Given the description of an element on the screen output the (x, y) to click on. 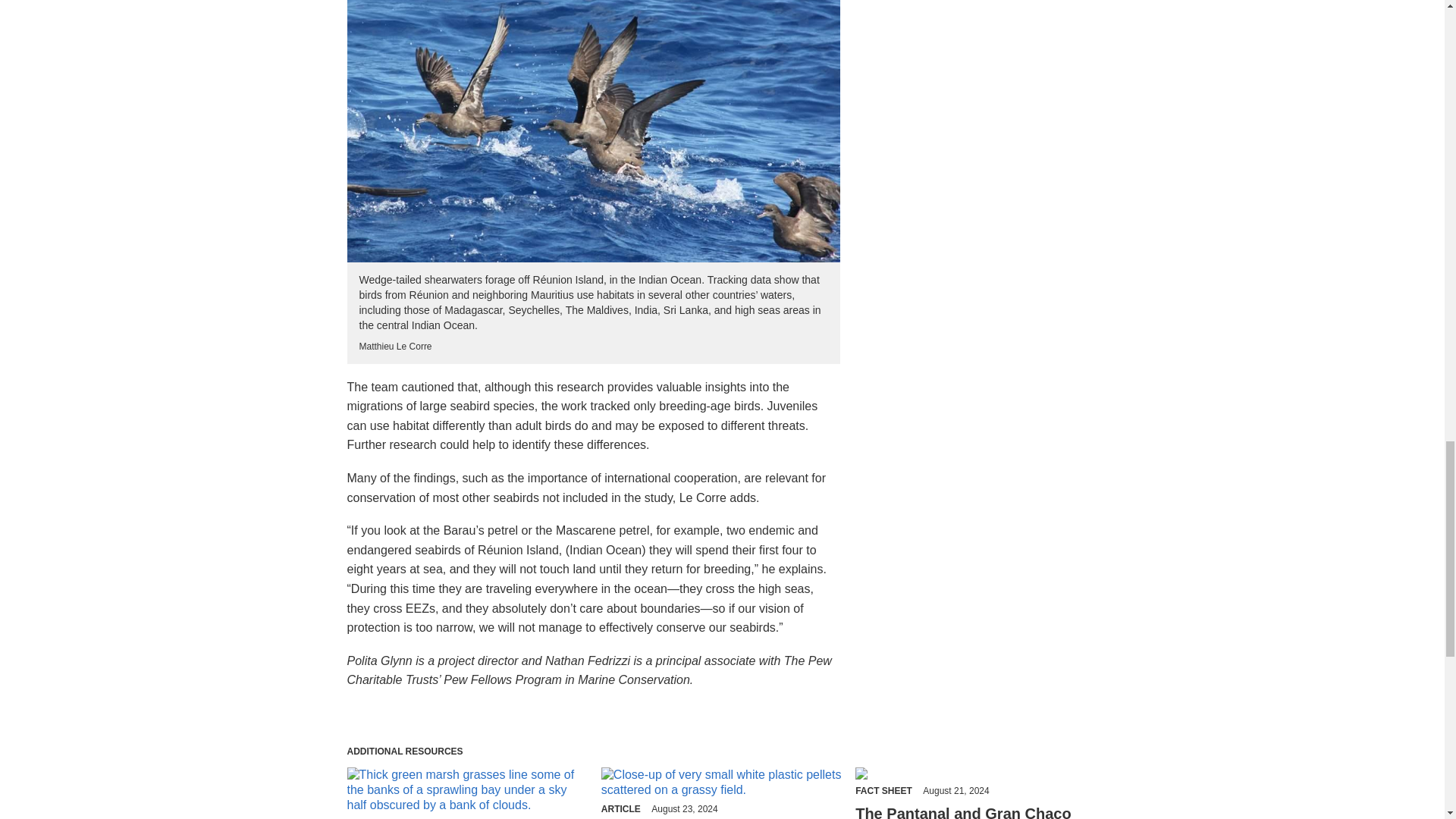
Shearwaters (593, 131)
